Given the description of an element on the screen output the (x, y) to click on. 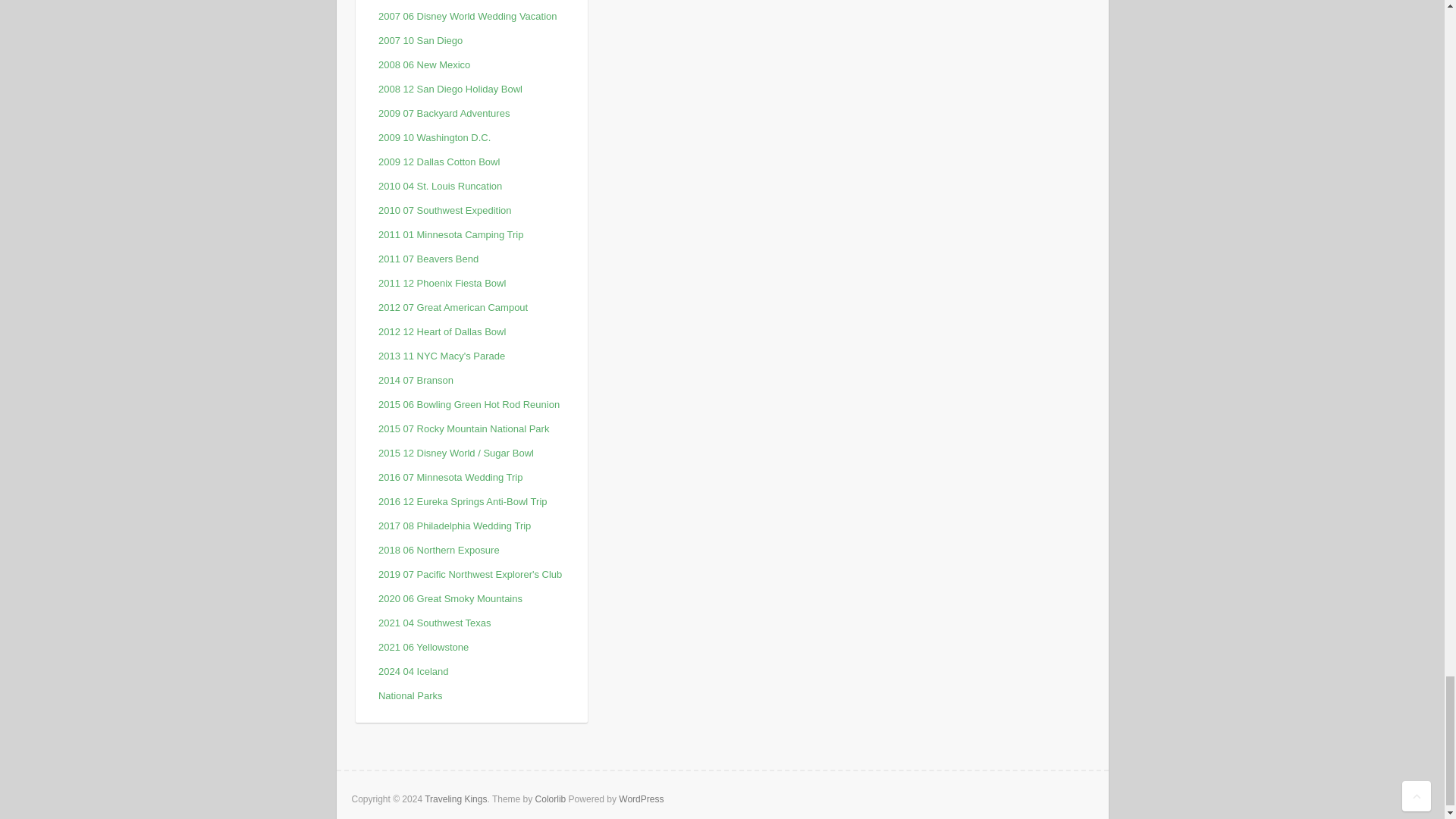
Traveling Kings (455, 798)
WordPress (640, 798)
Colorlib (550, 798)
